Given the description of an element on the screen output the (x, y) to click on. 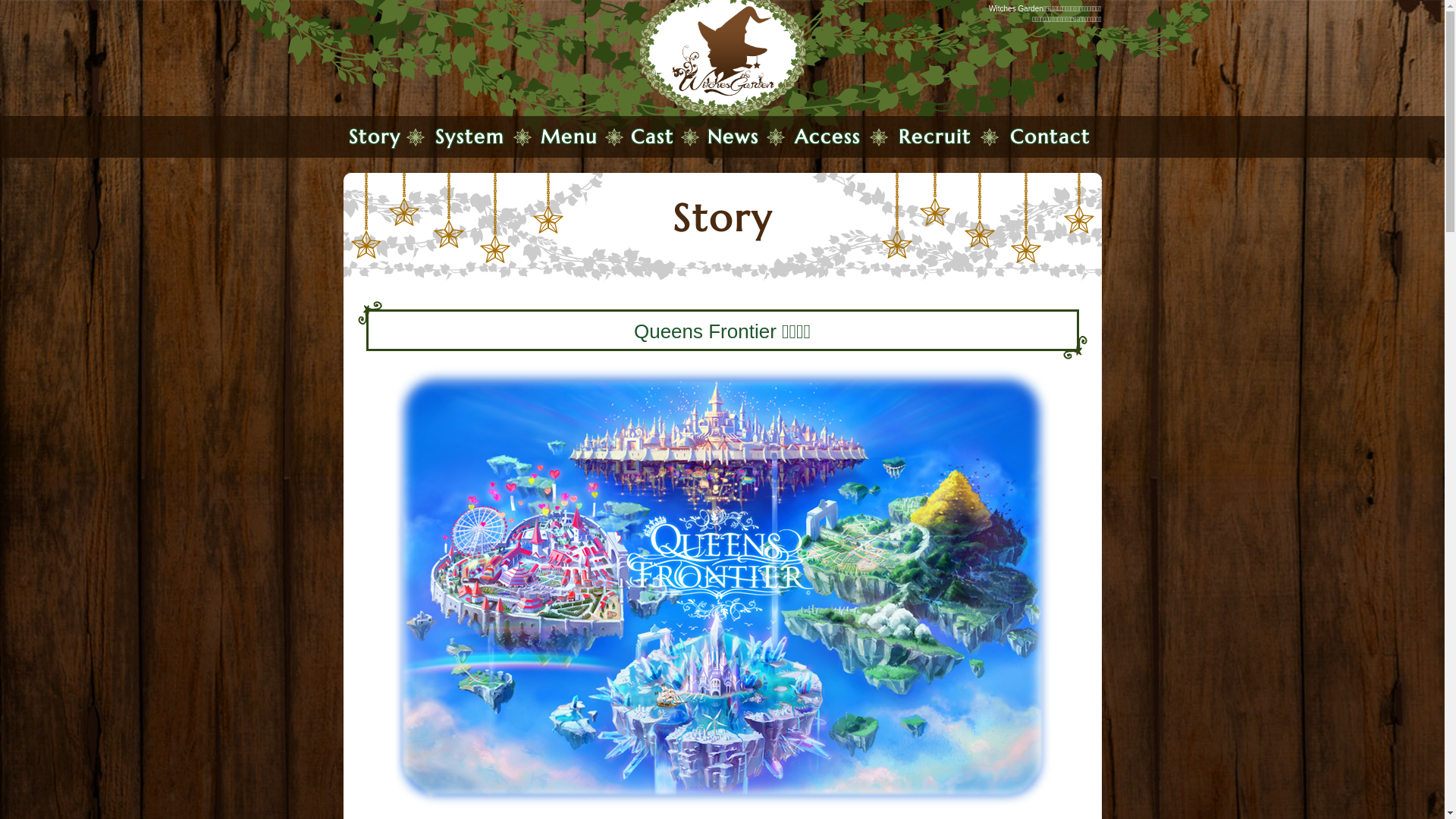
Cast Element type: text (652, 136)
Menu Element type: text (568, 136)
Story Element type: text (374, 136)
News Element type: text (733, 136)
Access Element type: text (827, 136)
System Element type: text (469, 136)
Contact Element type: text (1050, 136)
Recruit Element type: text (934, 136)
